Given the description of an element on the screen output the (x, y) to click on. 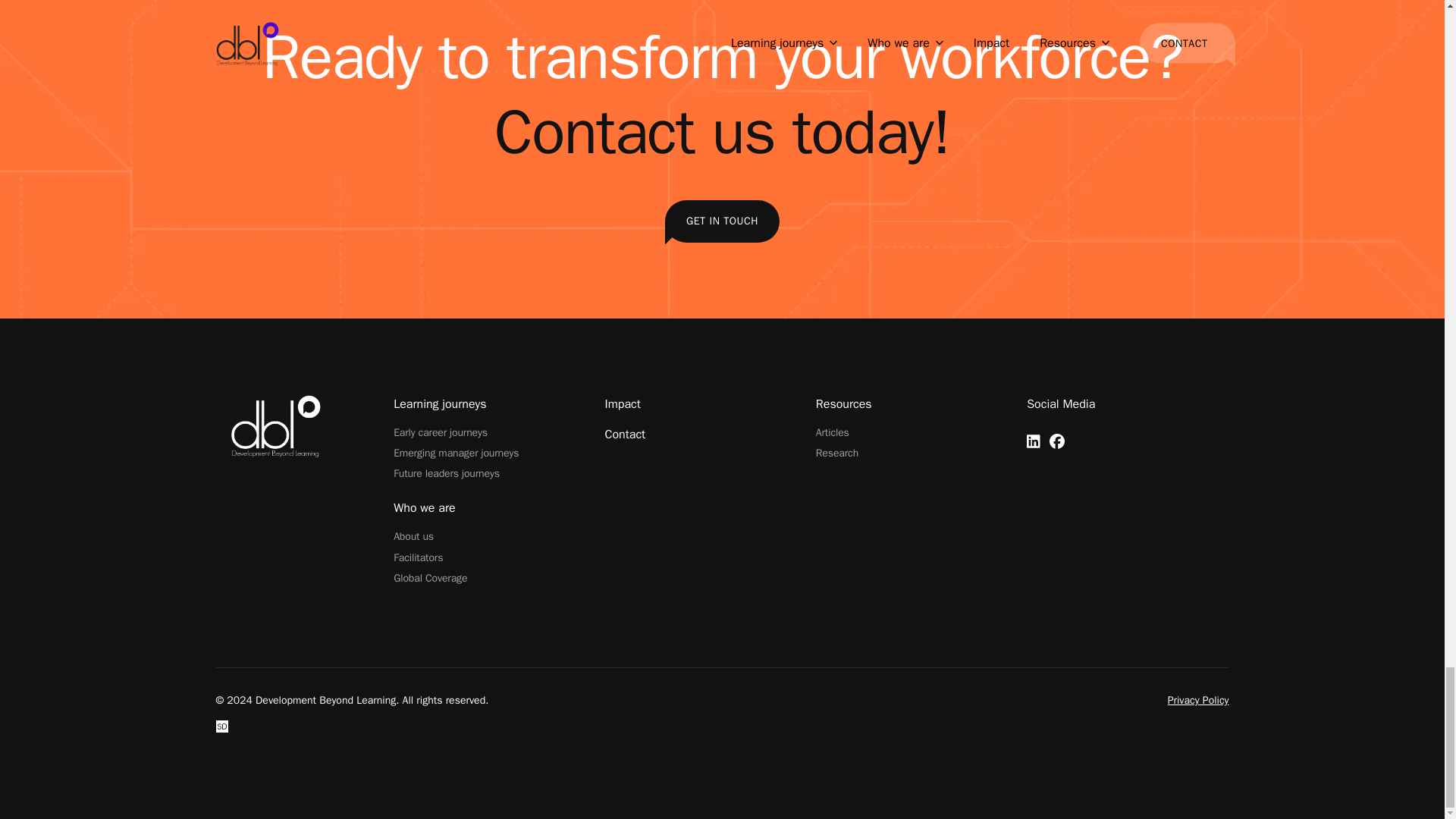
Digital Marketing by Spaced Digital (221, 726)
Development Beyond Learning (299, 425)
Learning journeys (439, 403)
Early career journeys (440, 431)
GET IN TOUCH (721, 220)
